Given the description of an element on the screen output the (x, y) to click on. 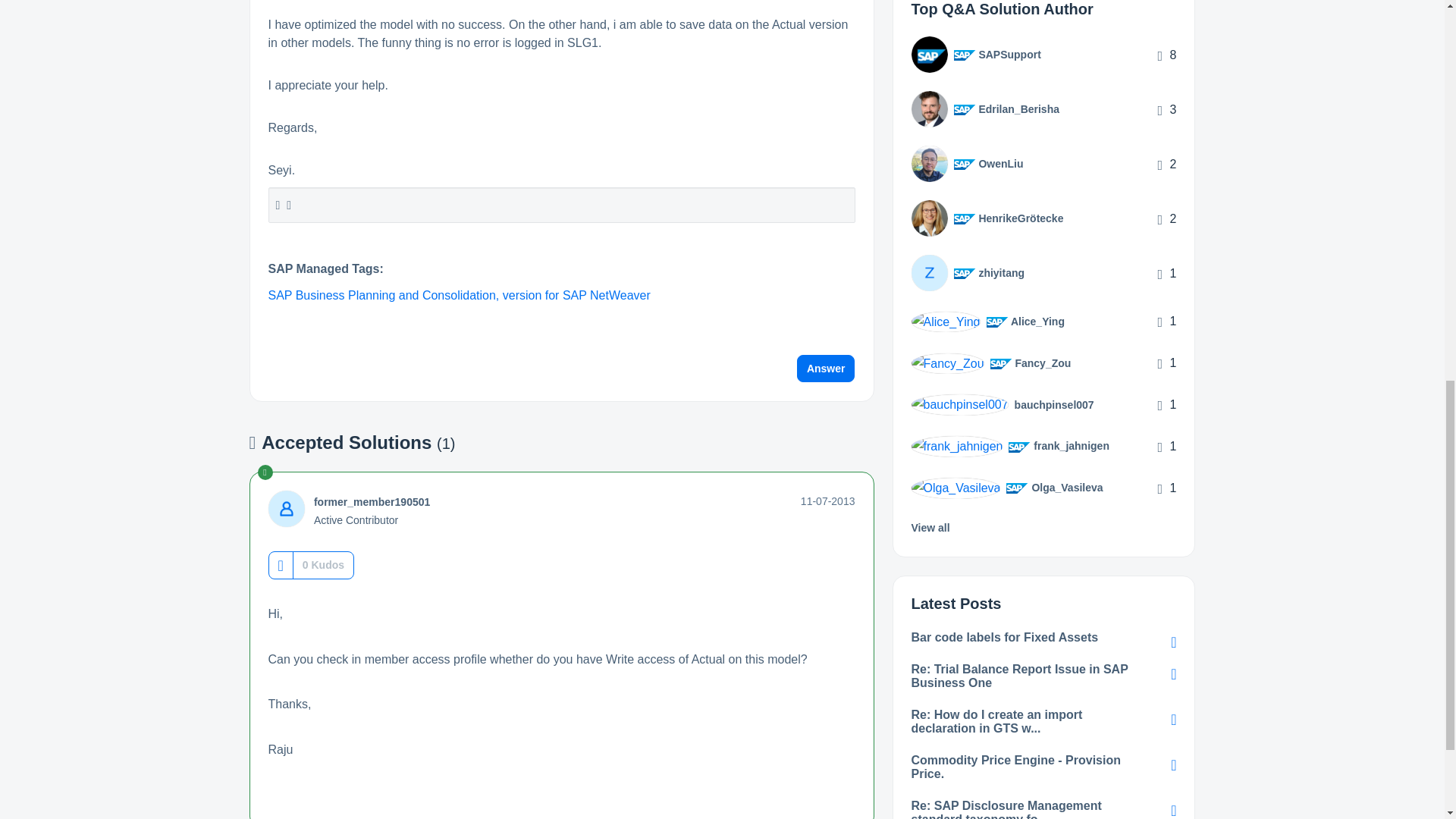
Answer (826, 368)
